Given the description of an element on the screen output the (x, y) to click on. 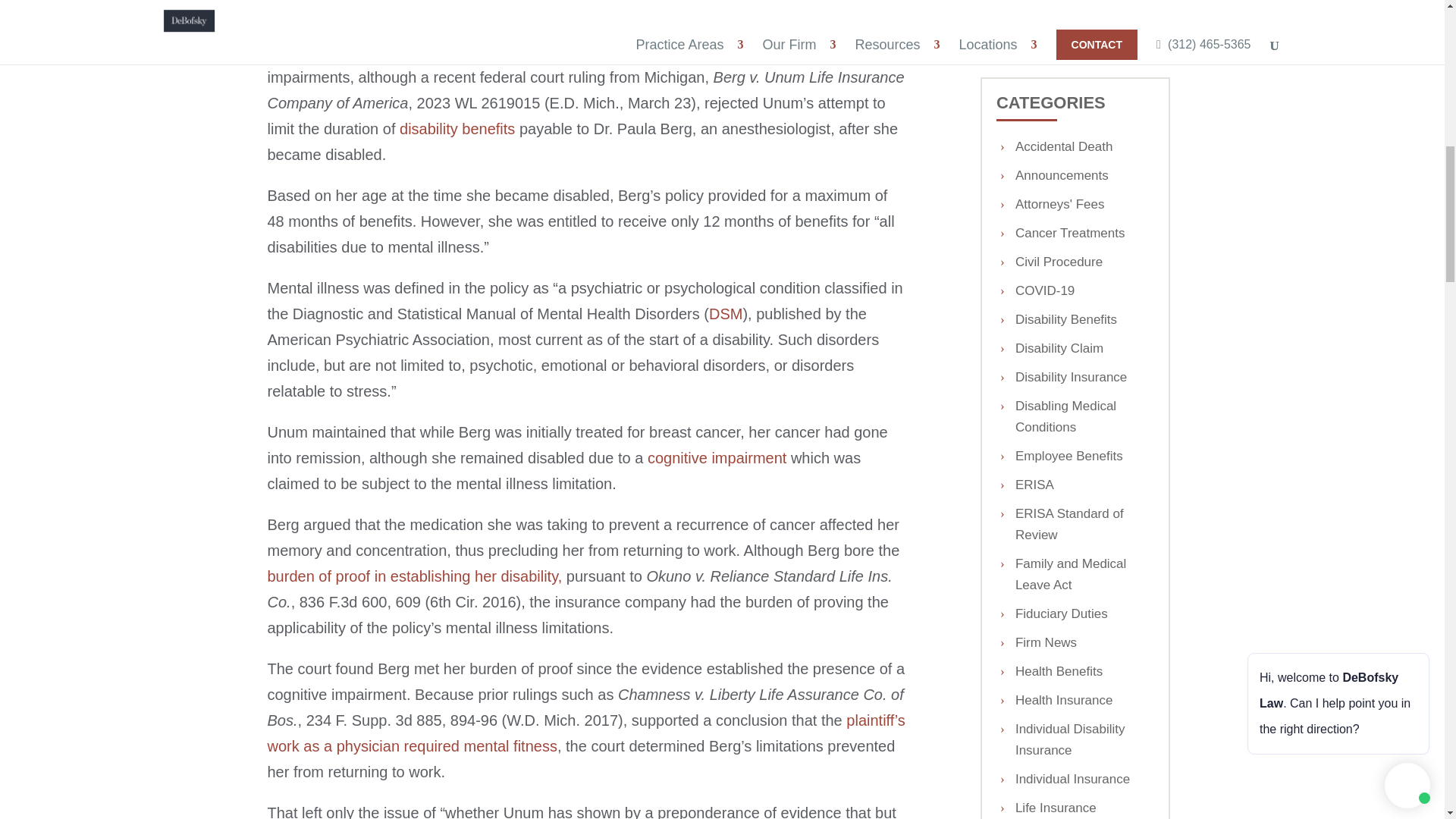
Search (1135, 24)
